Given the description of an element on the screen output the (x, y) to click on. 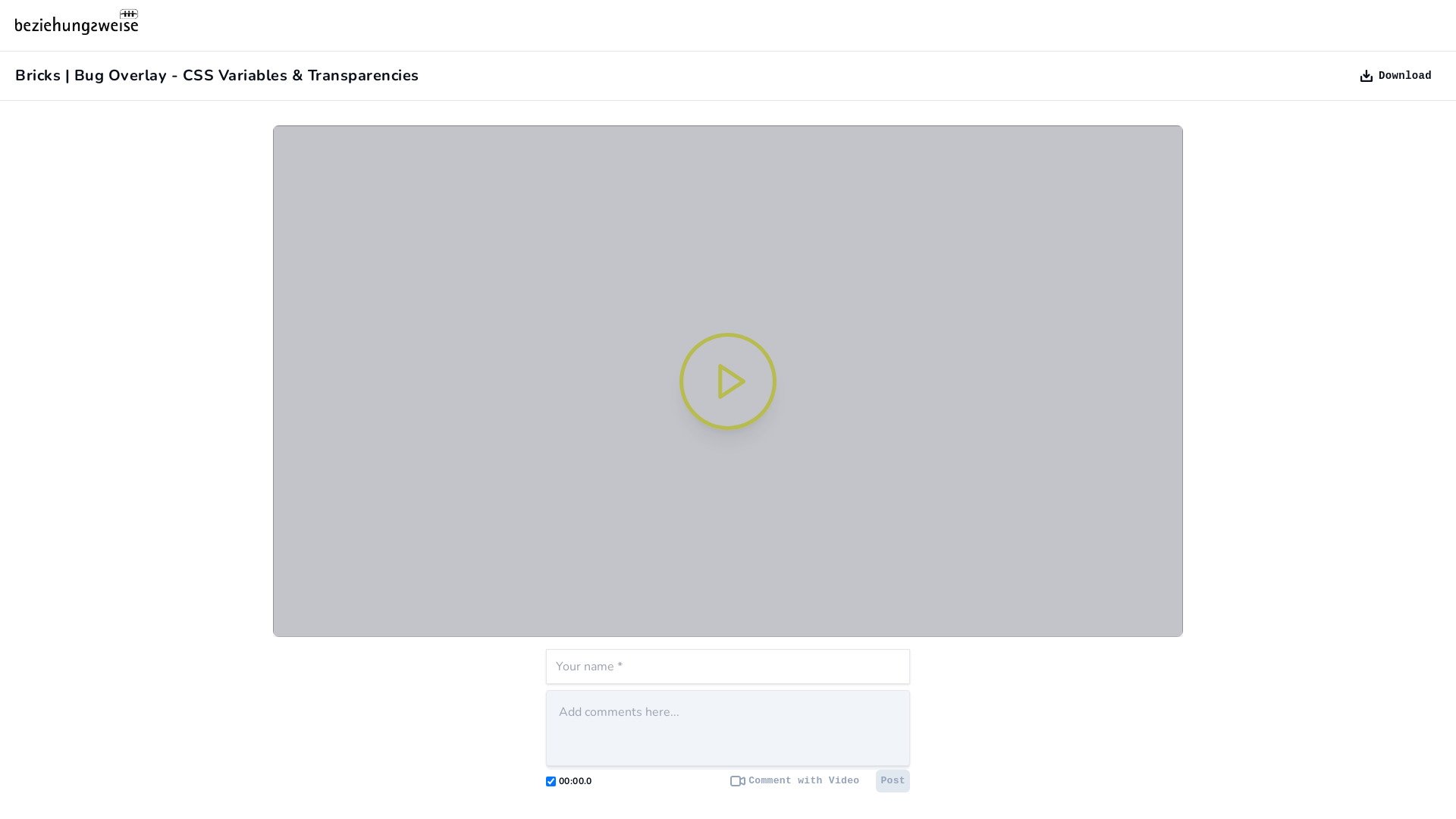
Post Element type: text (892, 780)
Comment with Video Element type: text (794, 780)
Download Element type: text (1395, 75)
